Given the description of an element on the screen output the (x, y) to click on. 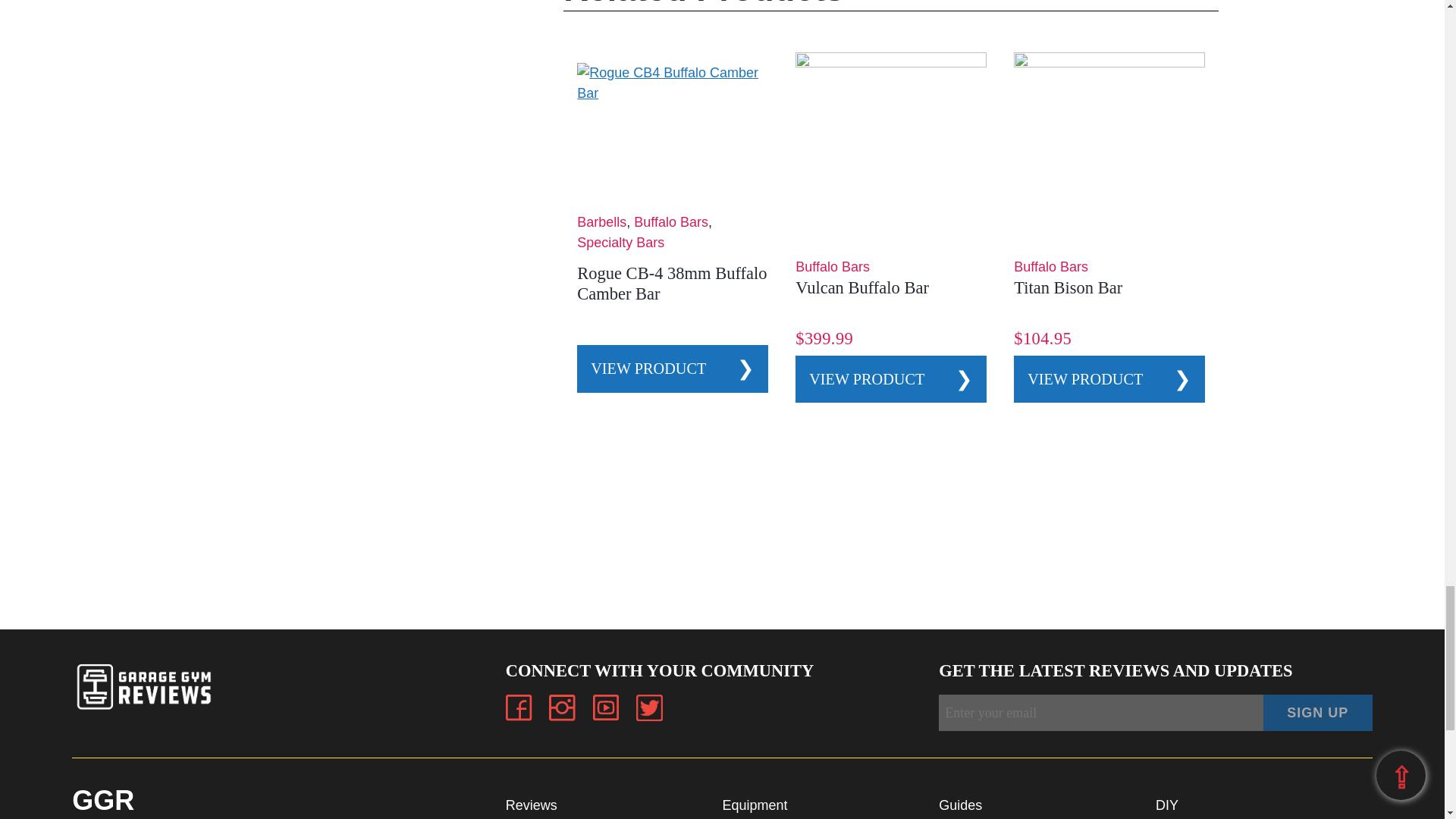
Sign Up (1318, 712)
